Given the description of an element on the screen output the (x, y) to click on. 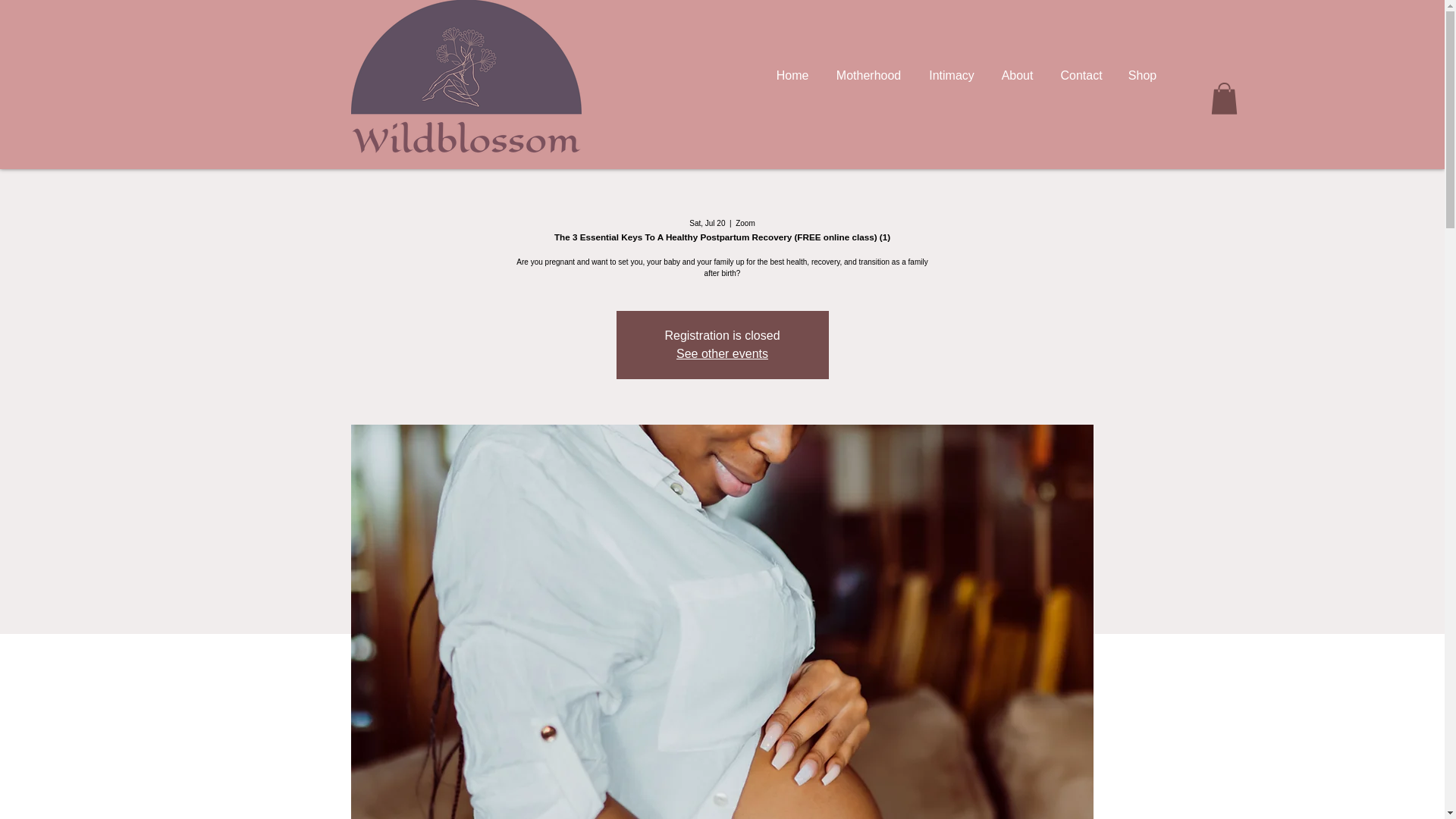
See other events (722, 353)
Shop (1142, 75)
Contact (1081, 75)
Intimacy (951, 75)
Home (792, 75)
About (1017, 75)
Motherhood (868, 75)
